Given the description of an element on the screen output the (x, y) to click on. 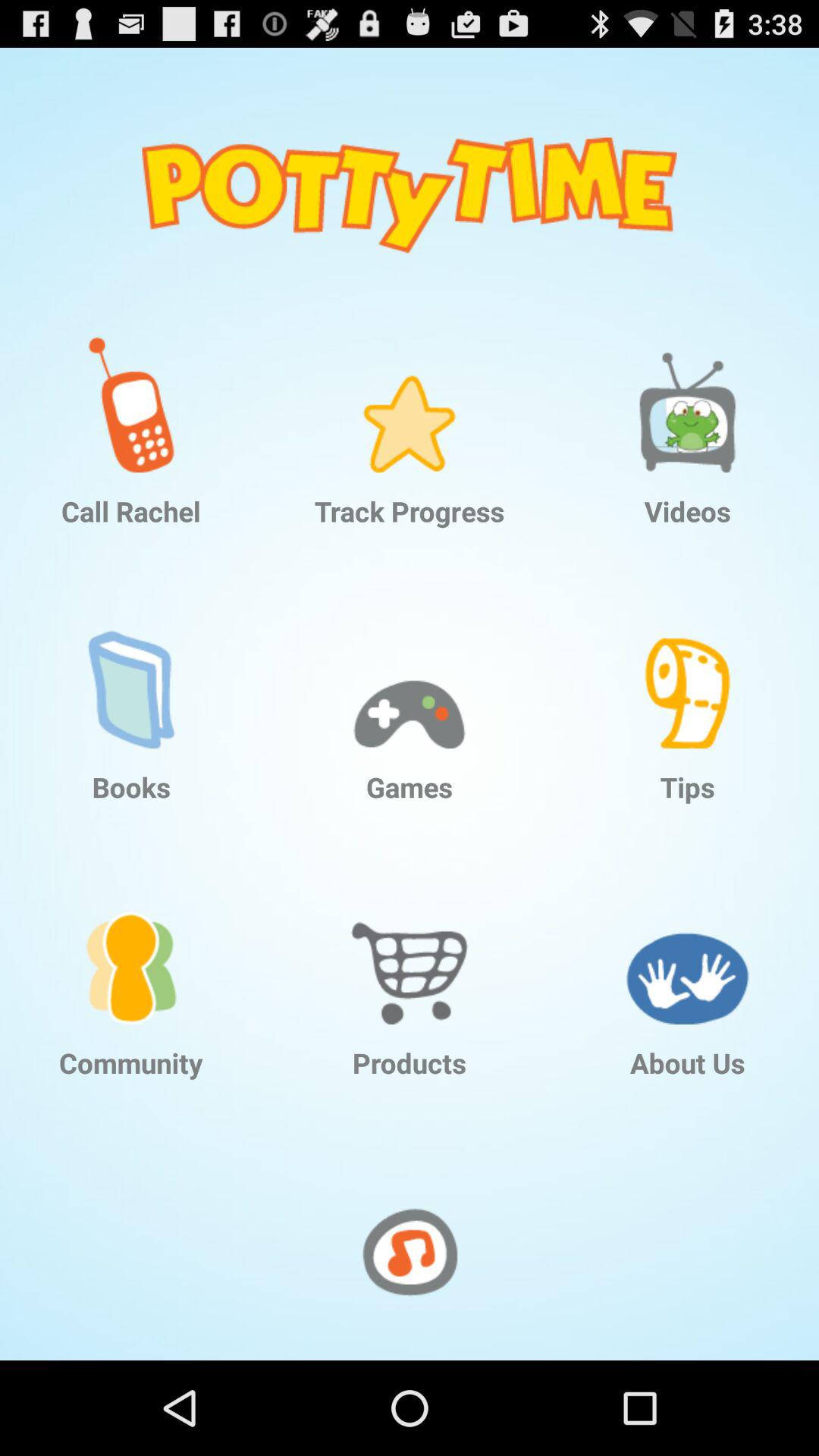
select the item below call rachel icon (131, 668)
